Given the description of an element on the screen output the (x, y) to click on. 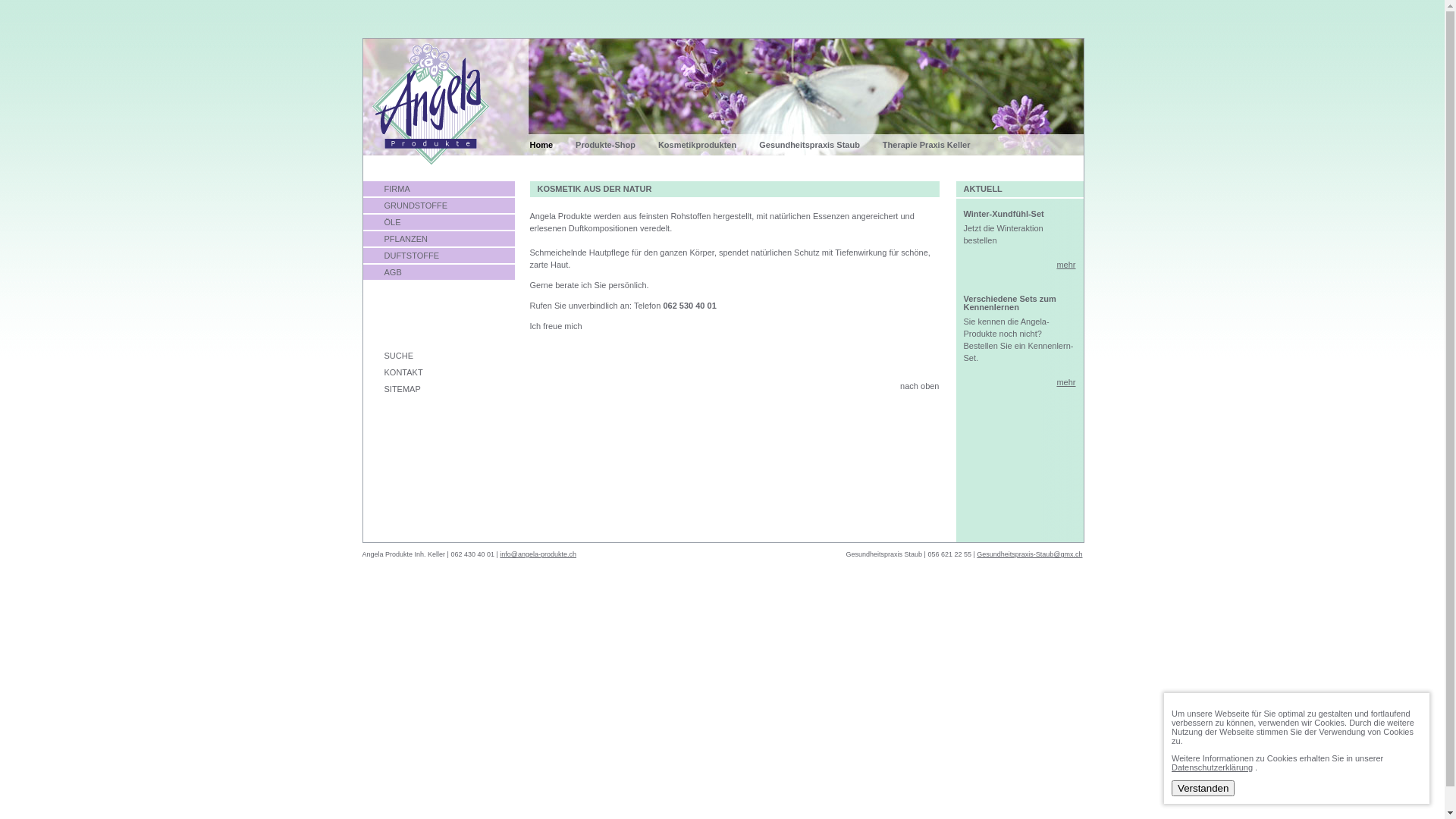
SITEMAP Element type: text (438, 389)
FIRMA Element type: text (438, 189)
mehr Element type: text (1065, 381)
Gesundheitspraxis Staub Element type: text (820, 144)
SUCHE Element type: text (438, 356)
Verstanden Element type: text (1202, 788)
Verschiedene Sets zum Kennenlernen Element type: text (1009, 302)
AGB Element type: text (438, 272)
Therapie Praxis Keller Element type: text (937, 144)
PFLANZEN Element type: text (438, 239)
Produkte-Shop Element type: text (616, 144)
Home Element type: text (552, 144)
KONTAKT Element type: text (438, 372)
Kosmetikprodukten Element type: text (708, 144)
mehr Element type: text (1065, 264)
DUFTSTOFFE Element type: text (438, 255)
Gesundheitspraxis-Staub@gmx.ch Element type: text (1029, 554)
nach oben Element type: text (911, 385)
info@angela-produkte.ch Element type: text (537, 554)
GRUNDSTOFFE Element type: text (438, 205)
